Given the description of an element on the screen output the (x, y) to click on. 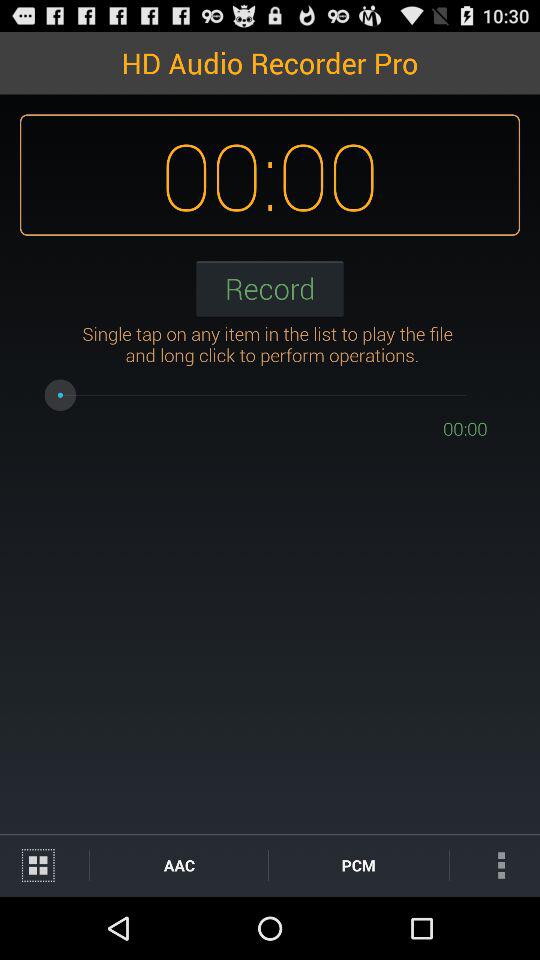
click icon to the right of the aac (358, 864)
